Given the description of an element on the screen output the (x, y) to click on. 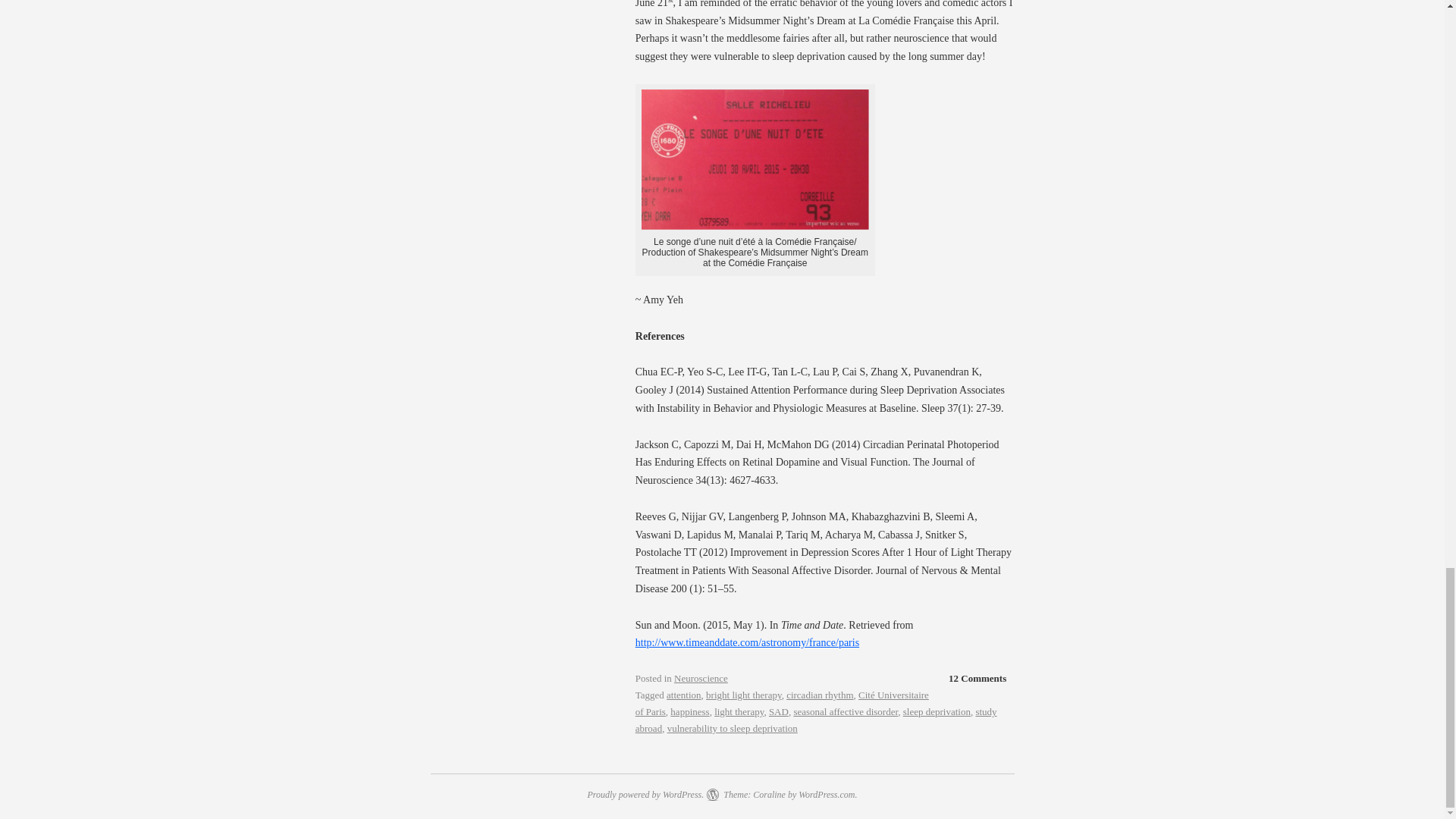
bright light therapy (743, 695)
12 Comments (976, 678)
attention (683, 695)
light therapy (738, 711)
circadian rhythm (819, 695)
A Semantic Personal Publishing Platform (644, 794)
seasonal affective disorder (845, 711)
sleep deprivation (936, 711)
study abroad (815, 719)
vulnerability to sleep deprivation (731, 727)
